Given the description of an element on the screen output the (x, y) to click on. 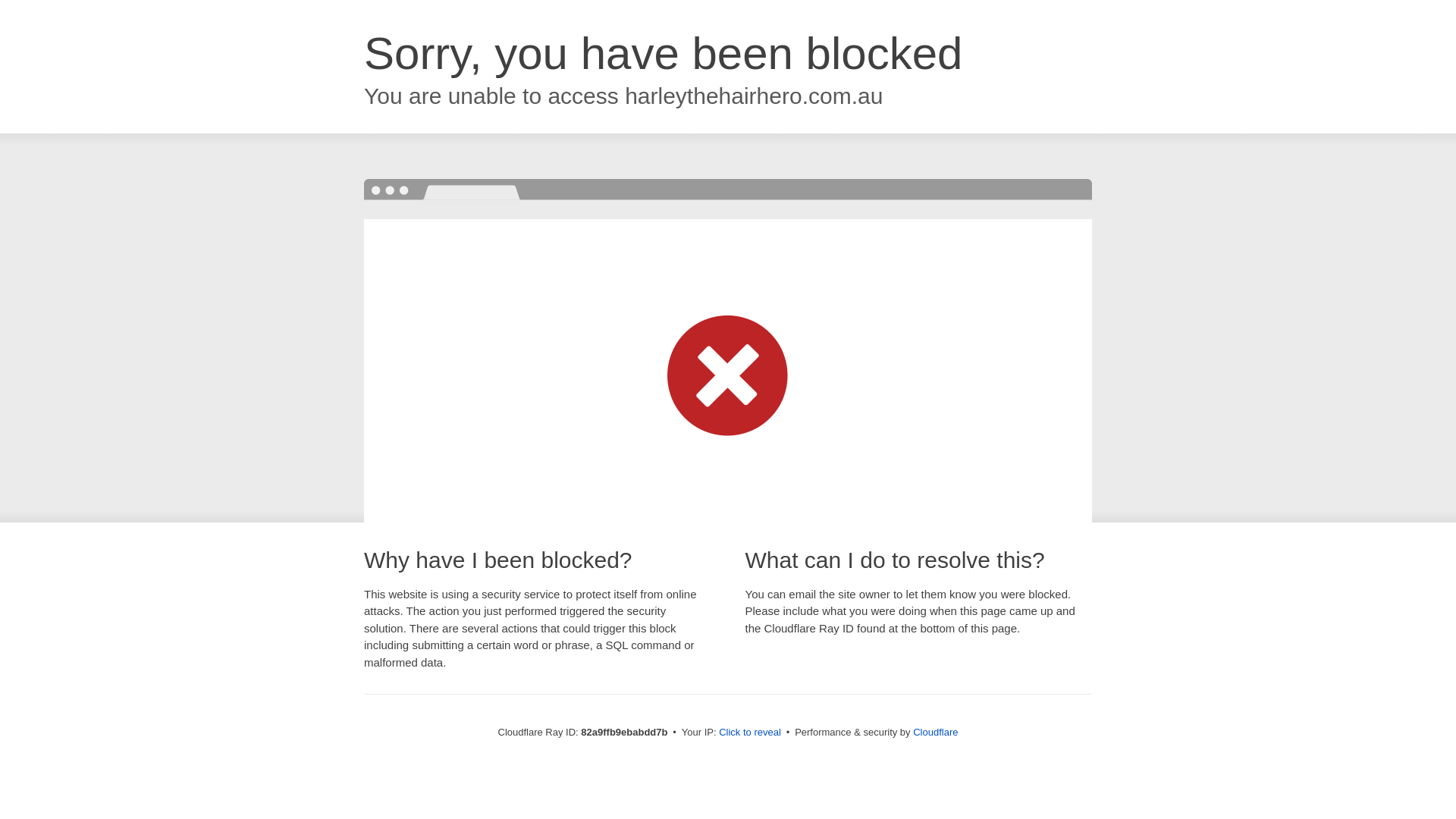
Click to reveal Element type: text (749, 732)
Cloudflare Element type: text (935, 731)
